Given the description of an element on the screen output the (x, y) to click on. 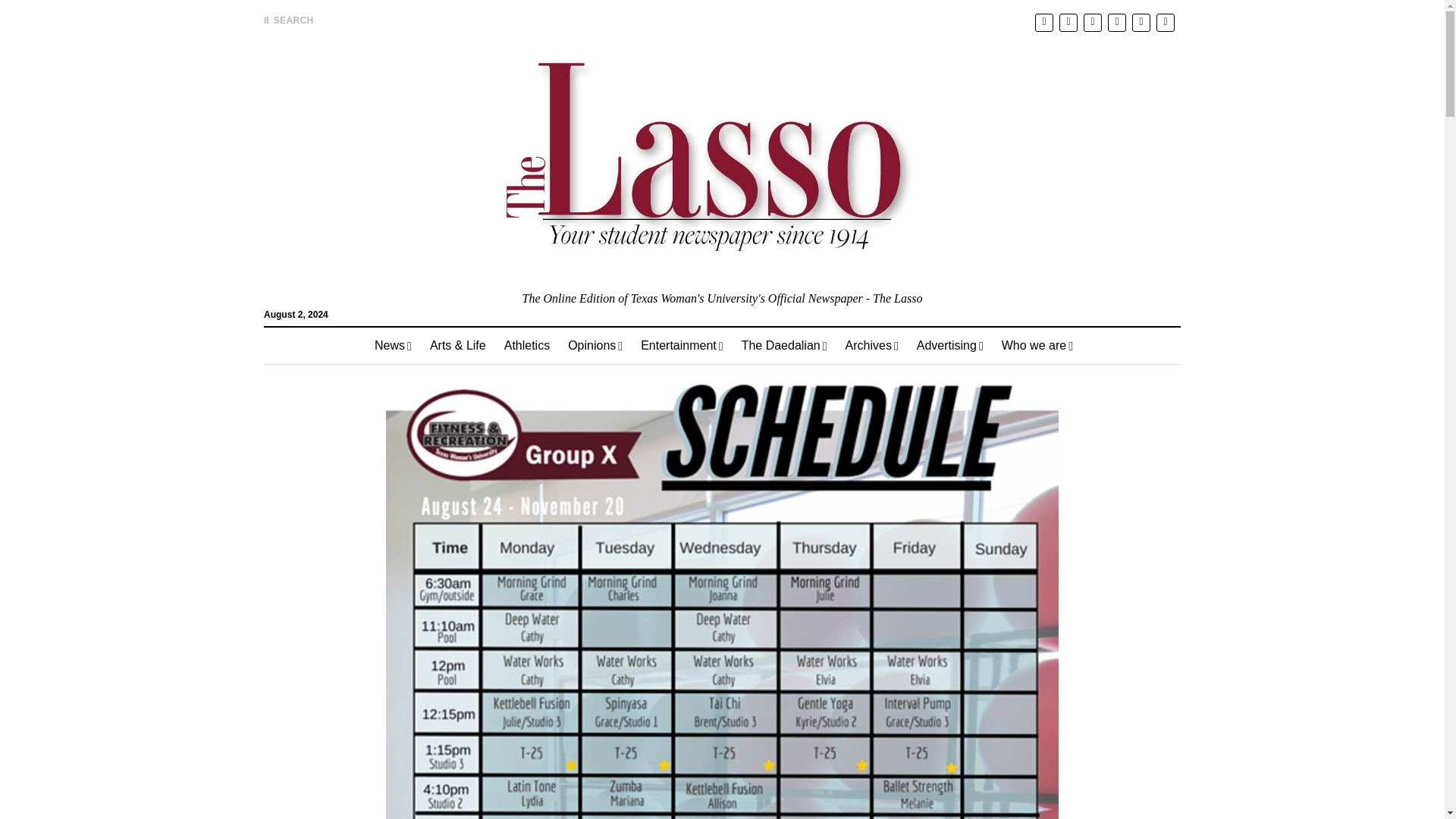
Advertising (949, 345)
Entertainment (681, 345)
Athletics (527, 345)
Opinions (595, 345)
Search (945, 129)
phone (1141, 22)
The Daedalian (783, 345)
Archives (871, 345)
SEARCH (288, 20)
News (392, 345)
